Given the description of an element on the screen output the (x, y) to click on. 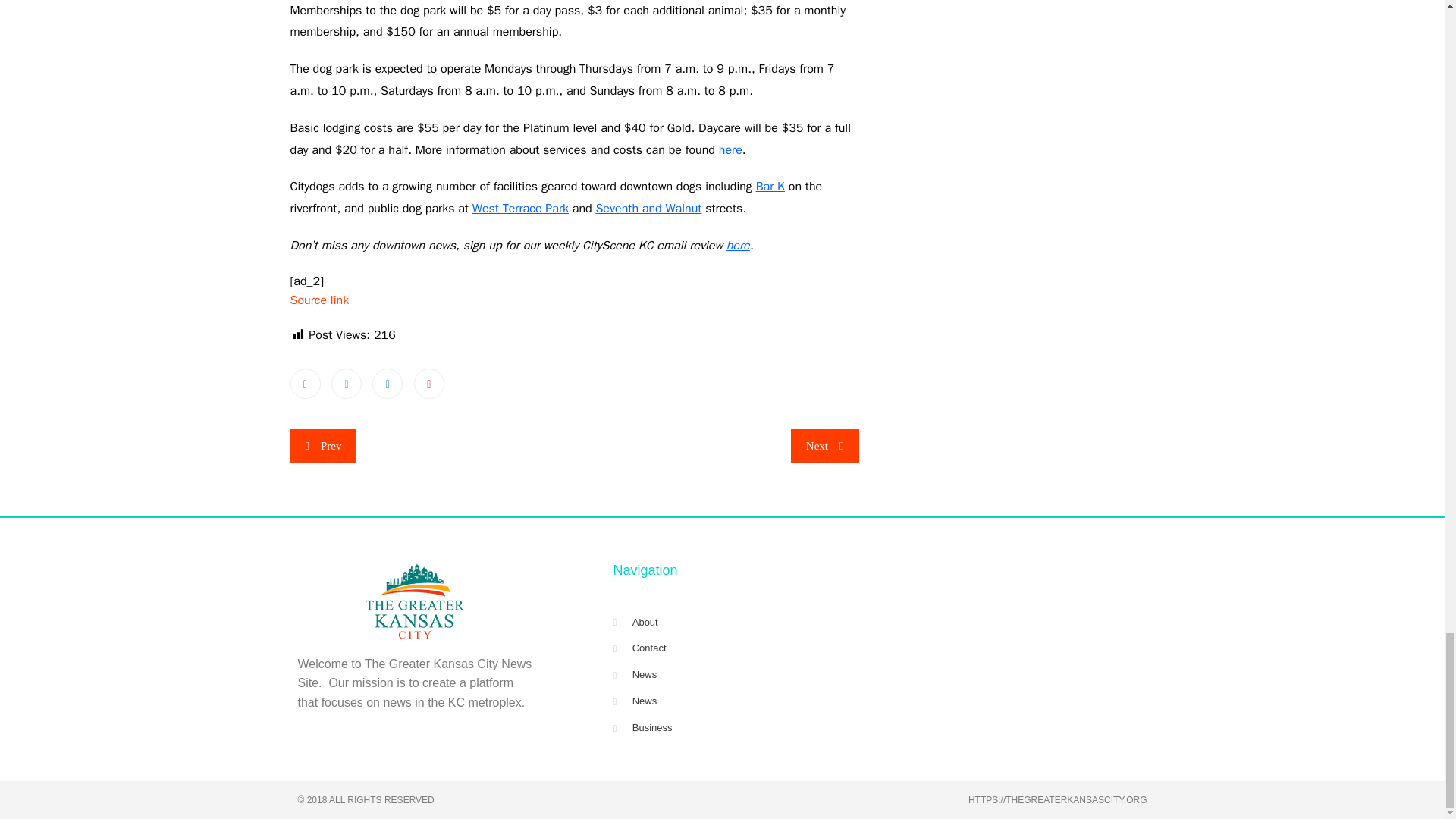
Next (824, 445)
Linkedin (387, 383)
Source link (319, 299)
West Terrace Park (520, 208)
Seventh and Walnut (648, 208)
here (730, 150)
here (737, 245)
Pinterest (428, 383)
Bar K (769, 186)
Twitter (346, 383)
Facebook (304, 383)
Prev (322, 445)
